Given the description of an element on the screen output the (x, y) to click on. 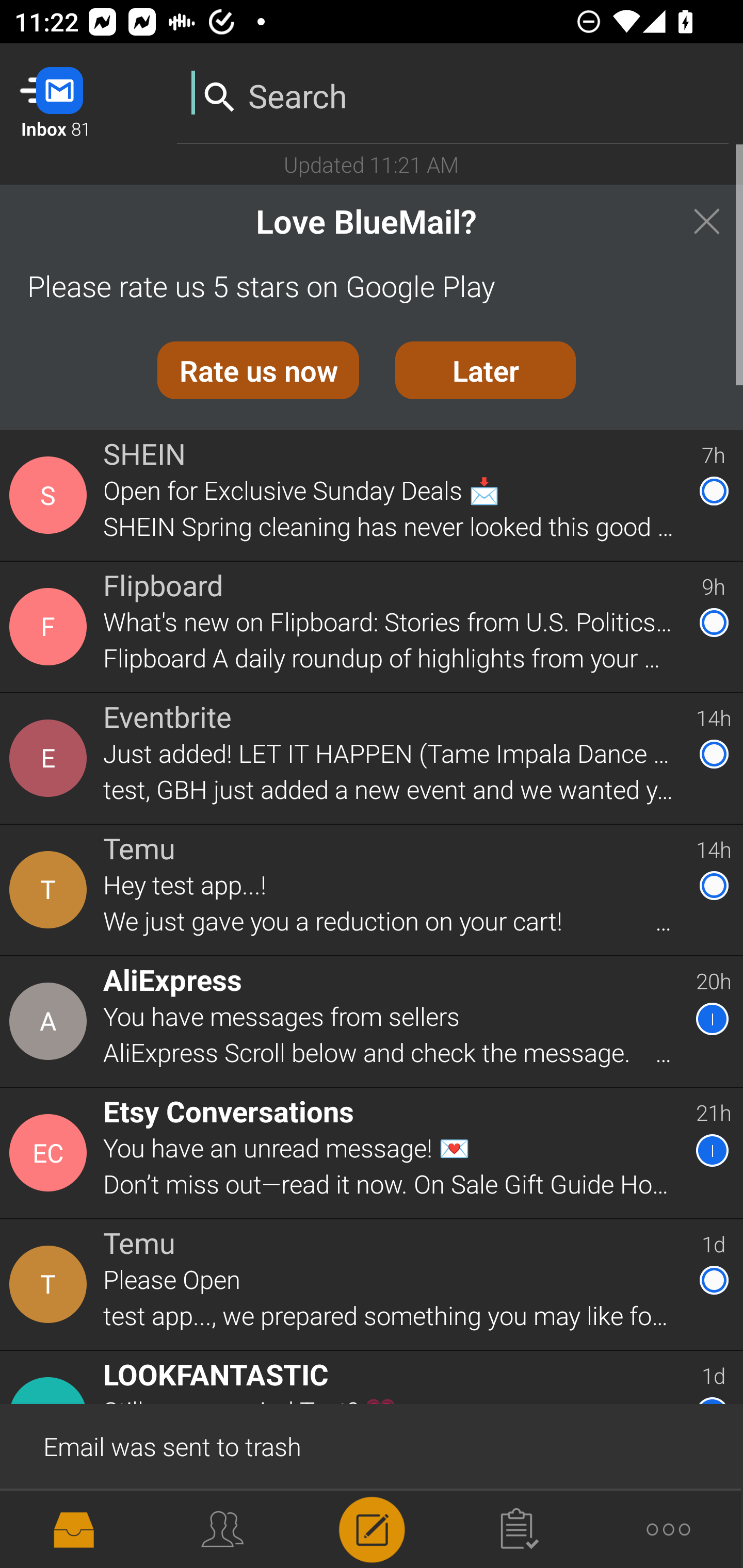
Navigate up (81, 93)
   Search (452, 92)
Updated 11:21 AM (371, 164)
Rate us now (257, 370)
Later (485, 370)
Contact Details (50, 495)
Contact Details (50, 626)
Contact Details (50, 758)
Contact Details (50, 889)
Contact Details (50, 1021)
Contact Details (50, 1153)
Contact Details (50, 1284)
Email was sent to trash (371, 1445)
Contact Details (50, 1524)
Compose (371, 1528)
